Given the description of an element on the screen output the (x, y) to click on. 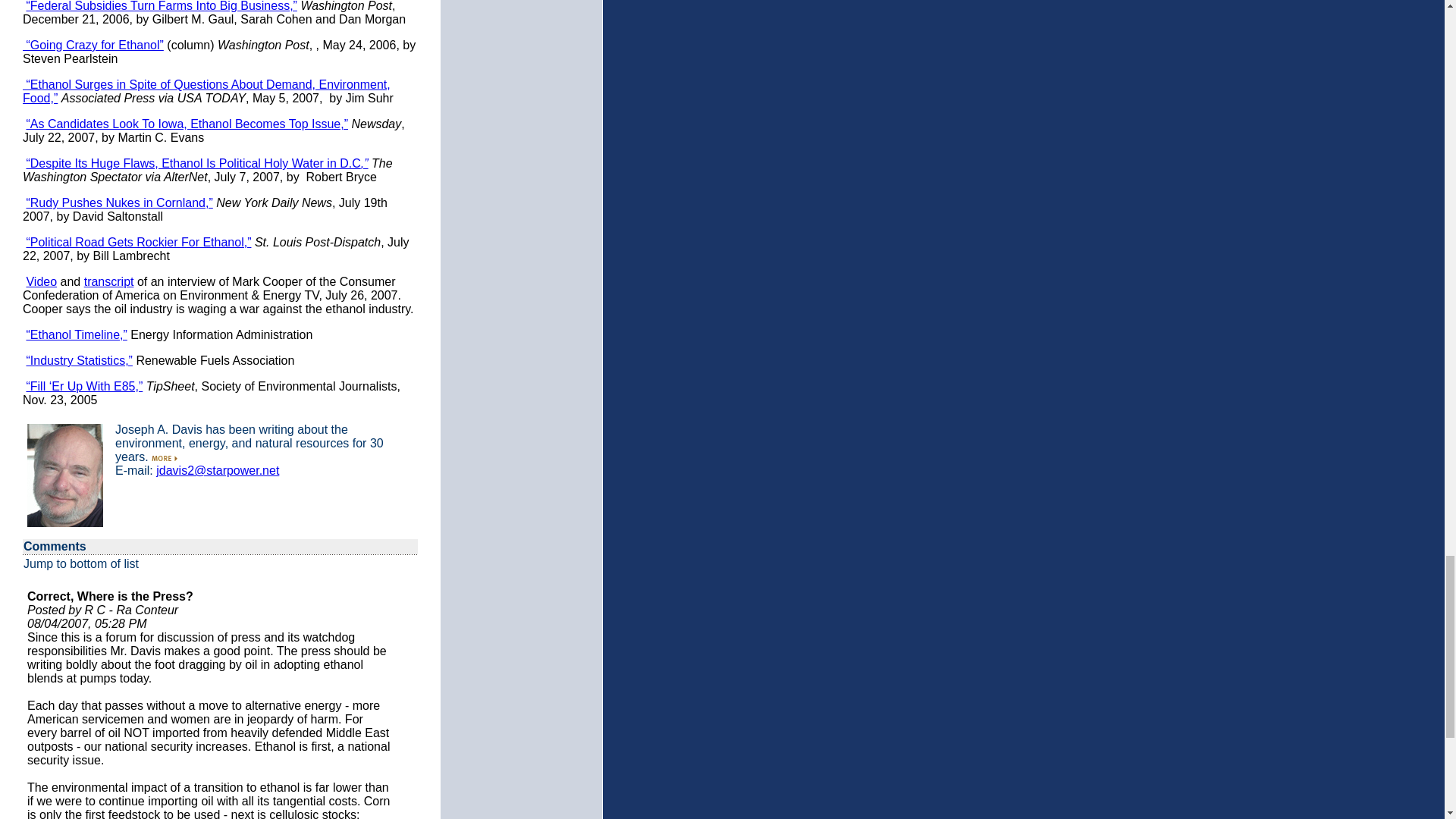
Jump to bottom of list (80, 563)
transcript (108, 281)
Video (41, 281)
